Given the description of an element on the screen output the (x, y) to click on. 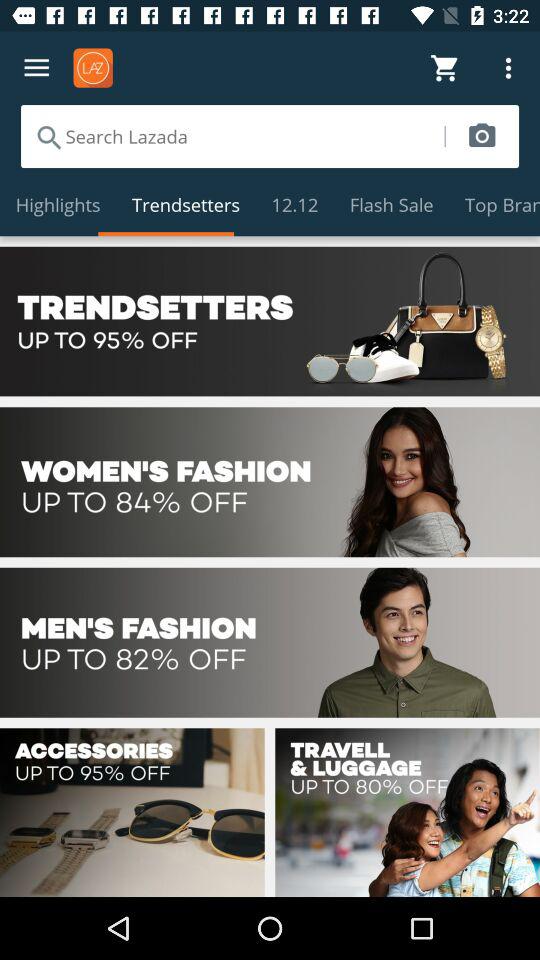
choose the item above the top brands (482, 136)
